Given the description of an element on the screen output the (x, y) to click on. 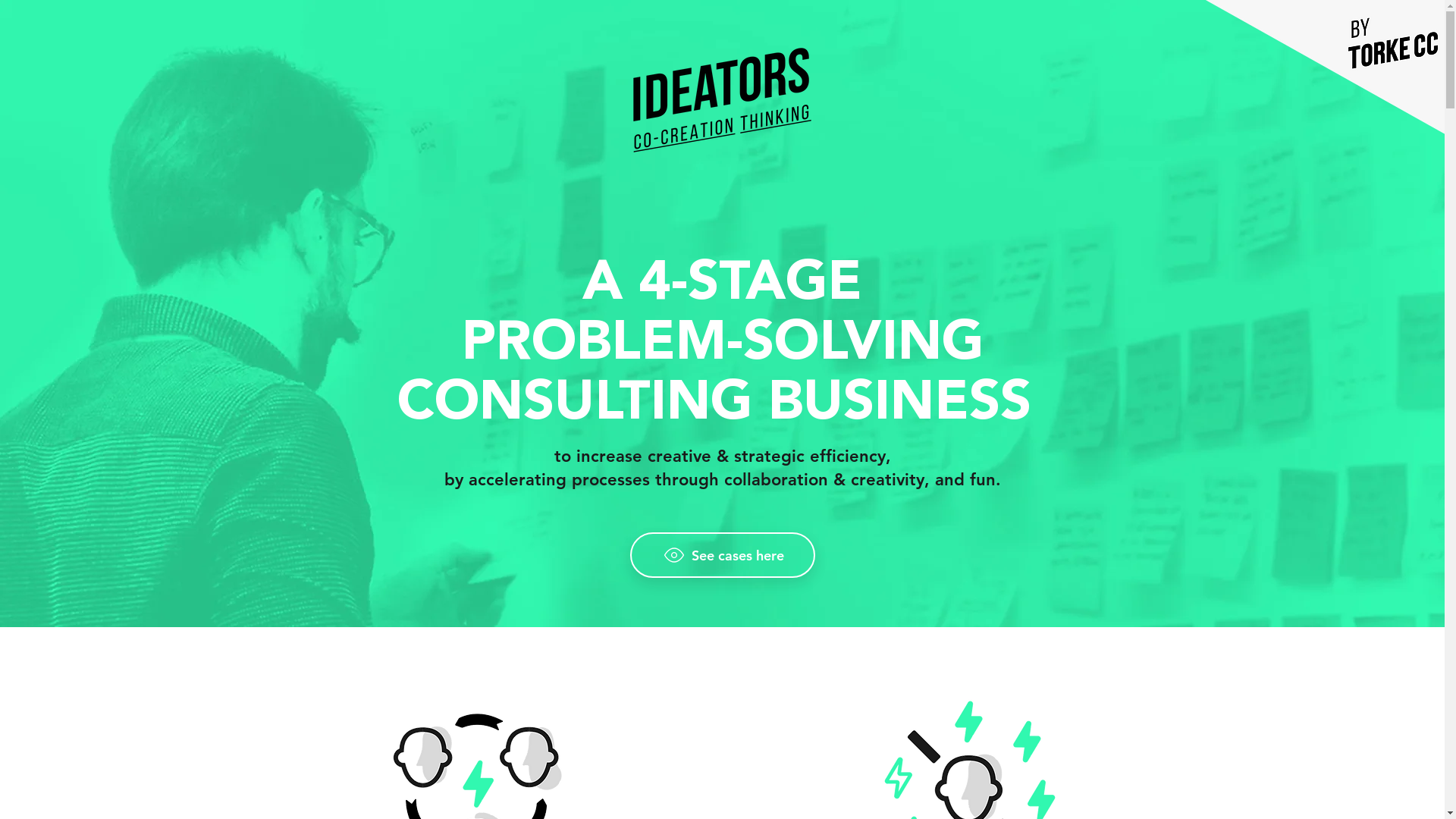
See cases here Element type: text (721, 554)
